Given the description of an element on the screen output the (x, y) to click on. 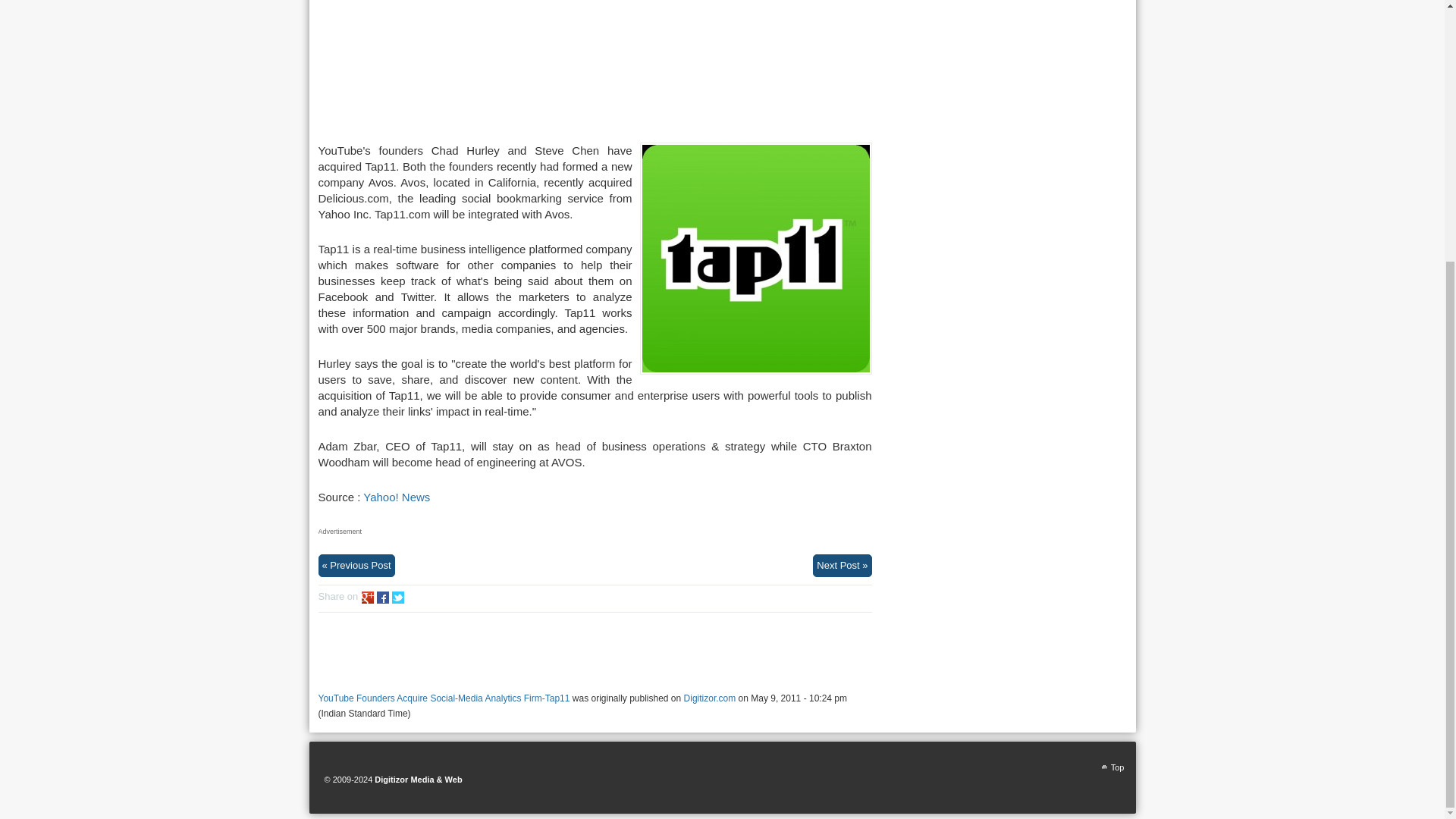
Yahoo! News (395, 496)
share this post on Facebook (382, 597)
share on gp (367, 597)
YouTube Founders Acquire Social-Media Analytics Firm-Tap11 (444, 697)
Digitizor.com (710, 697)
Top (1111, 766)
share this post on Twitter (397, 597)
Advertisement (595, 65)
share on fb (382, 597)
share on tw (397, 597)
